Given the description of an element on the screen output the (x, y) to click on. 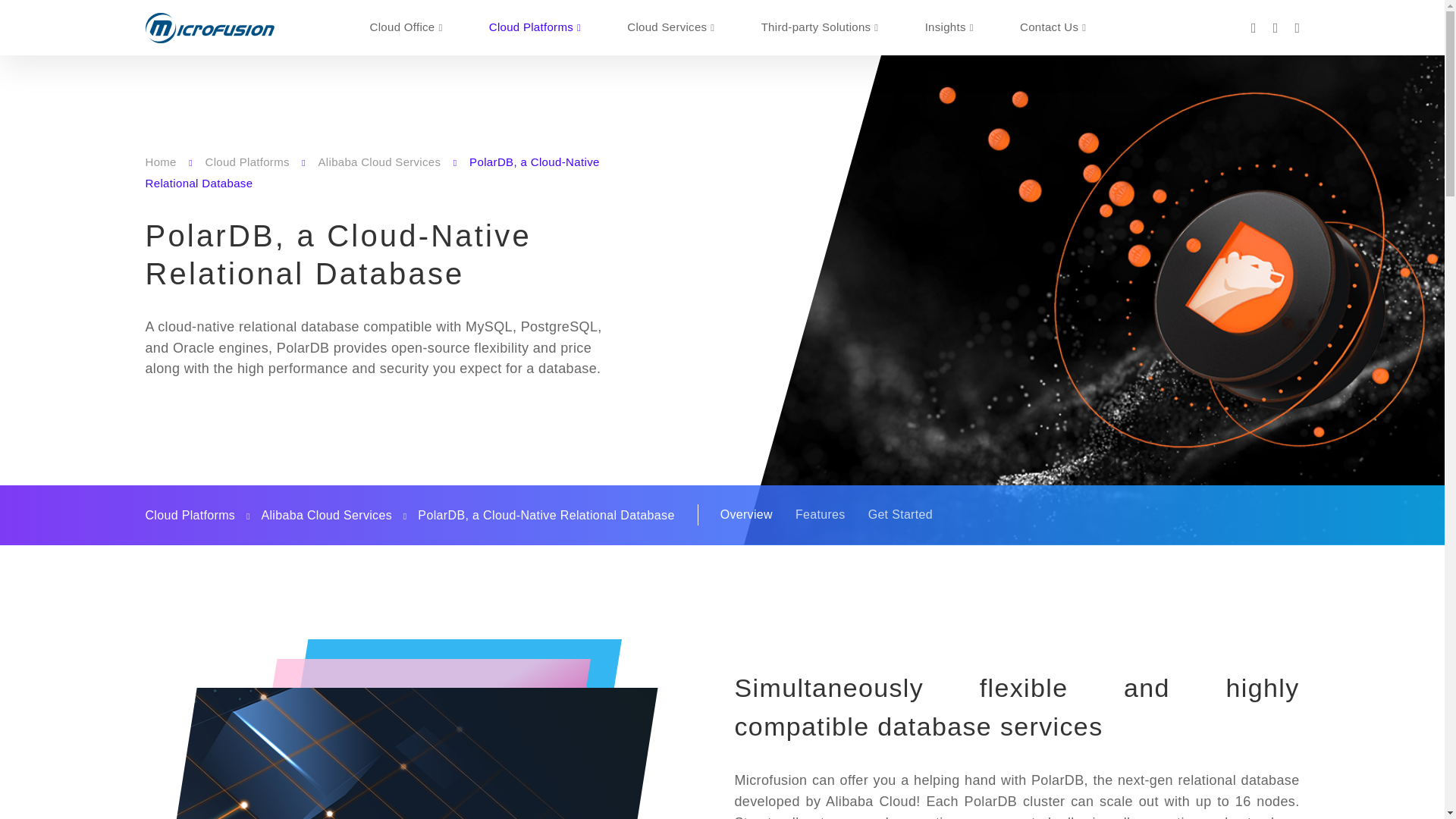
Cloud Platforms (526, 26)
Cloud Office (398, 26)
search (1275, 27)
